Given the description of an element on the screen output the (x, y) to click on. 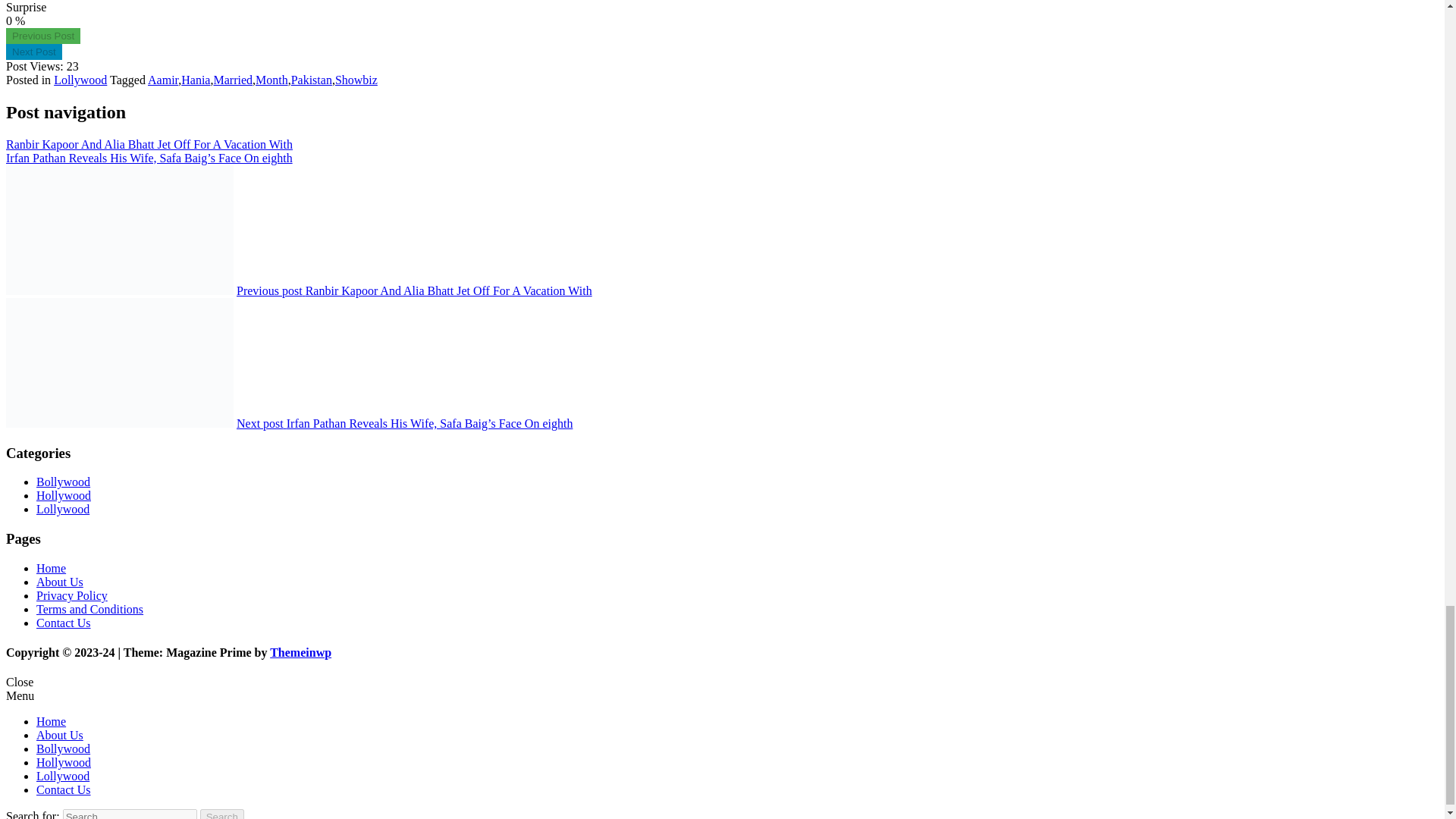
Previous Post (42, 34)
Ranbir Kapoor And Alia Bhatt Jet Off For A Vacation With (42, 34)
Previous Post (42, 35)
Next Post (33, 51)
Irfan Pathan Reveals His Wife, Safa Baig's Face On eighth (33, 51)
